Given the description of an element on the screen output the (x, y) to click on. 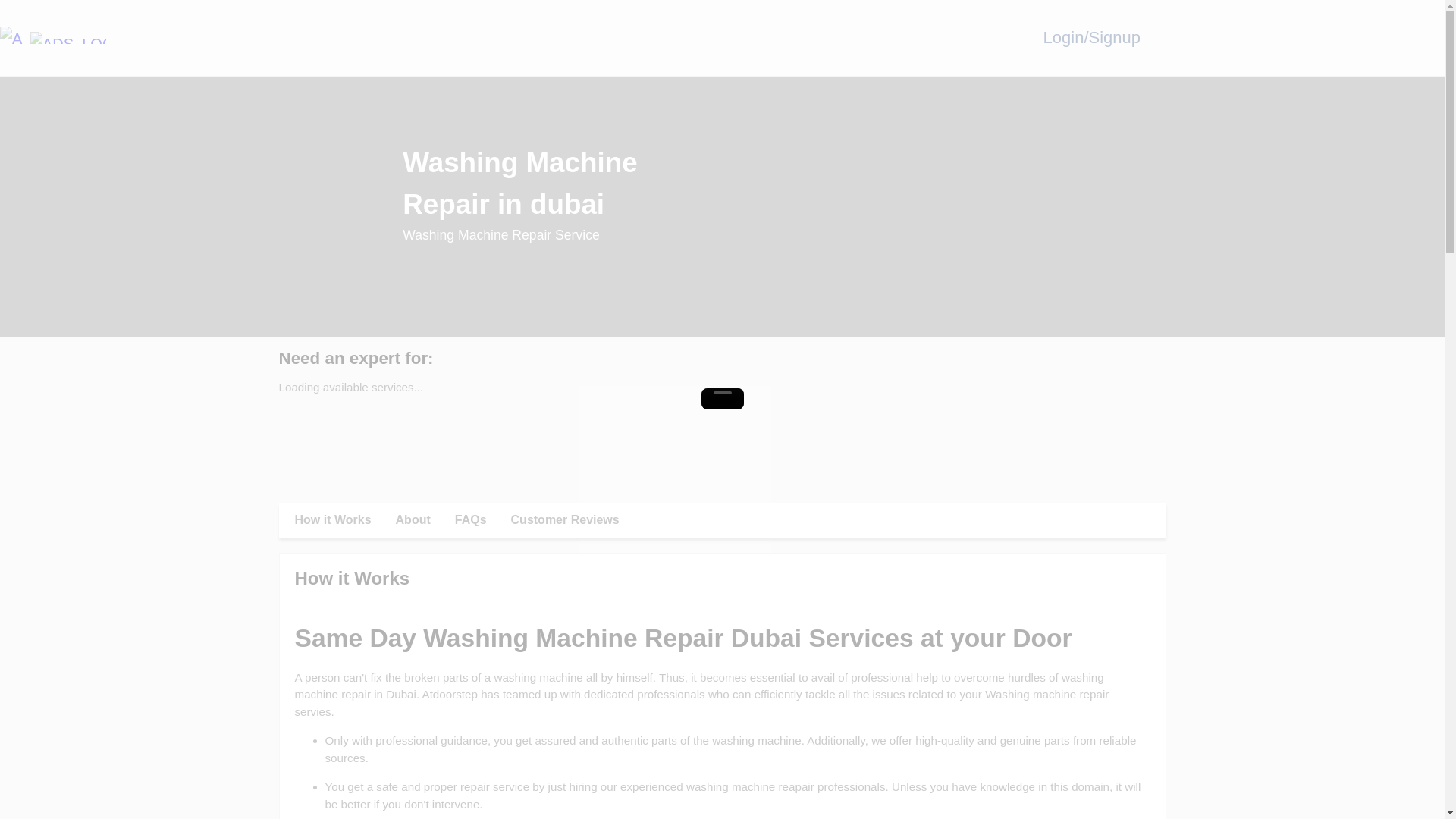
About (413, 519)
How it Works (332, 519)
Customer Reviews (565, 519)
FAQs (470, 519)
